Given the description of an element on the screen output the (x, y) to click on. 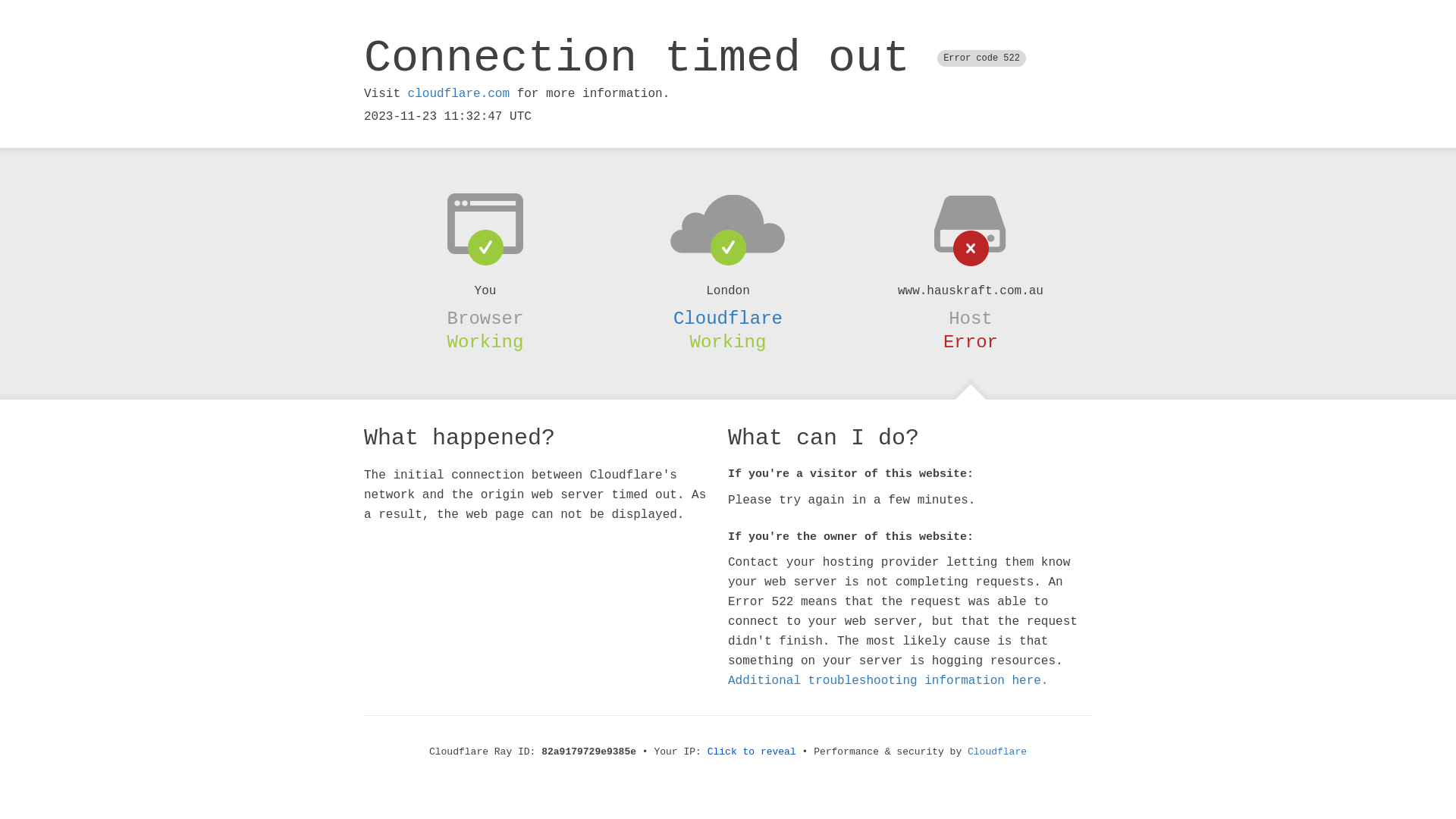
cloudflare.com Element type: text (458, 93)
Cloudflare Element type: text (727, 318)
Additional troubleshooting information here. Element type: text (888, 680)
Cloudflare Element type: text (996, 751)
Click to reveal Element type: text (751, 751)
